Given the description of an element on the screen output the (x, y) to click on. 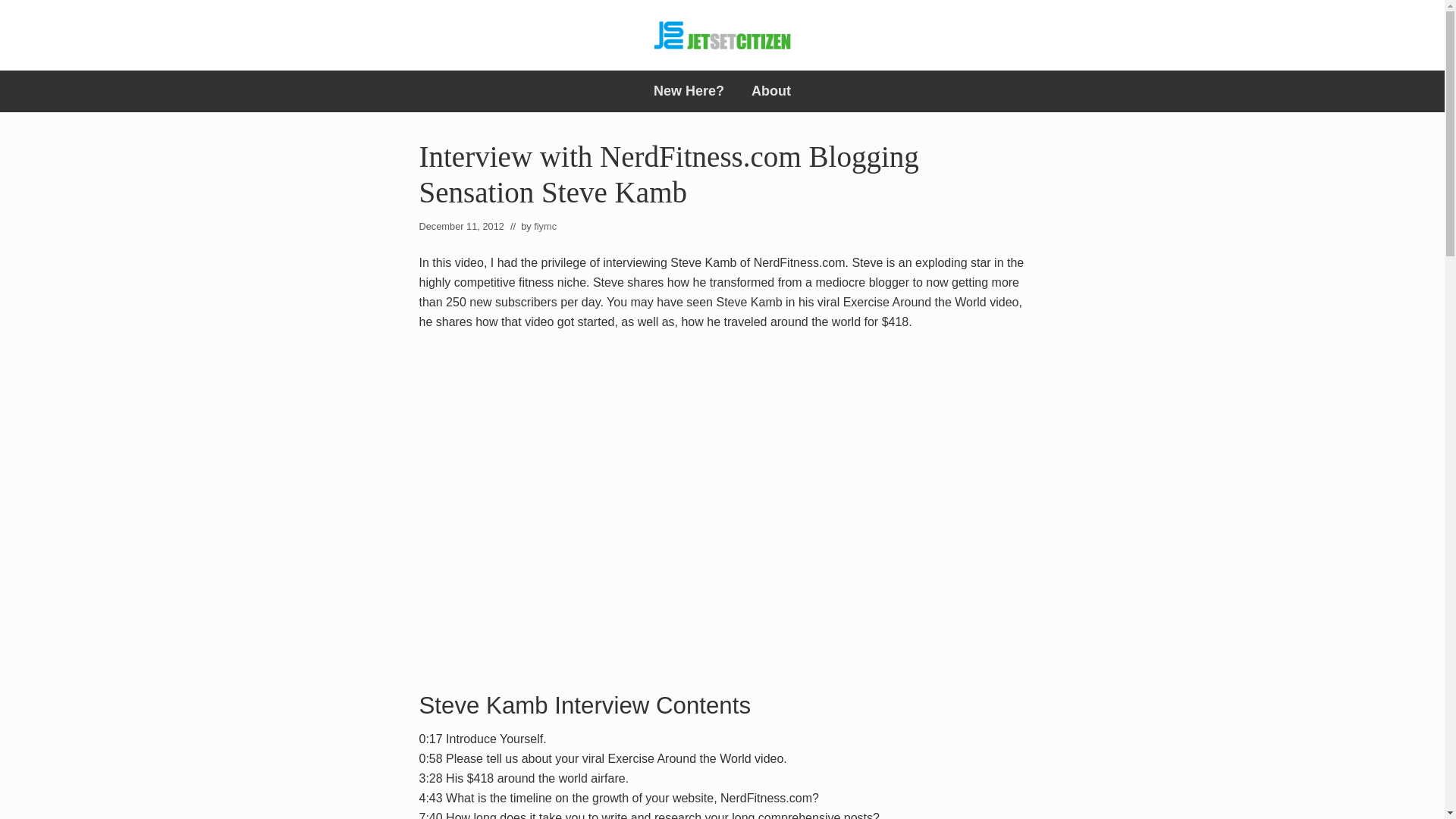
New Here? (689, 91)
About (771, 91)
fiymc (545, 225)
